Given the description of an element on the screen output the (x, y) to click on. 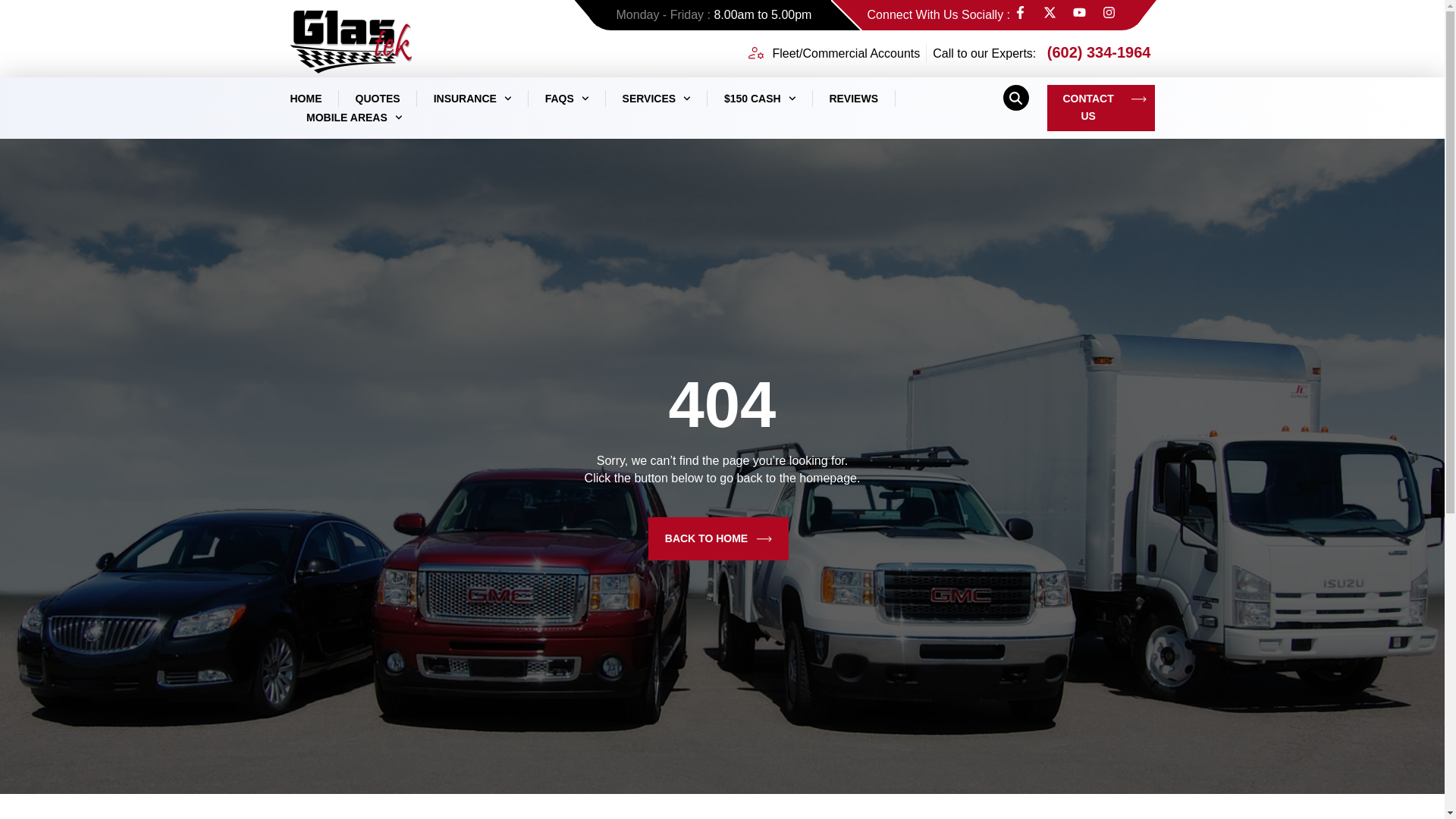
QUOTES (376, 98)
INSURANCE (472, 98)
HOME (305, 98)
SERVICES (656, 98)
FAQS (566, 98)
